Given the description of an element on the screen output the (x, y) to click on. 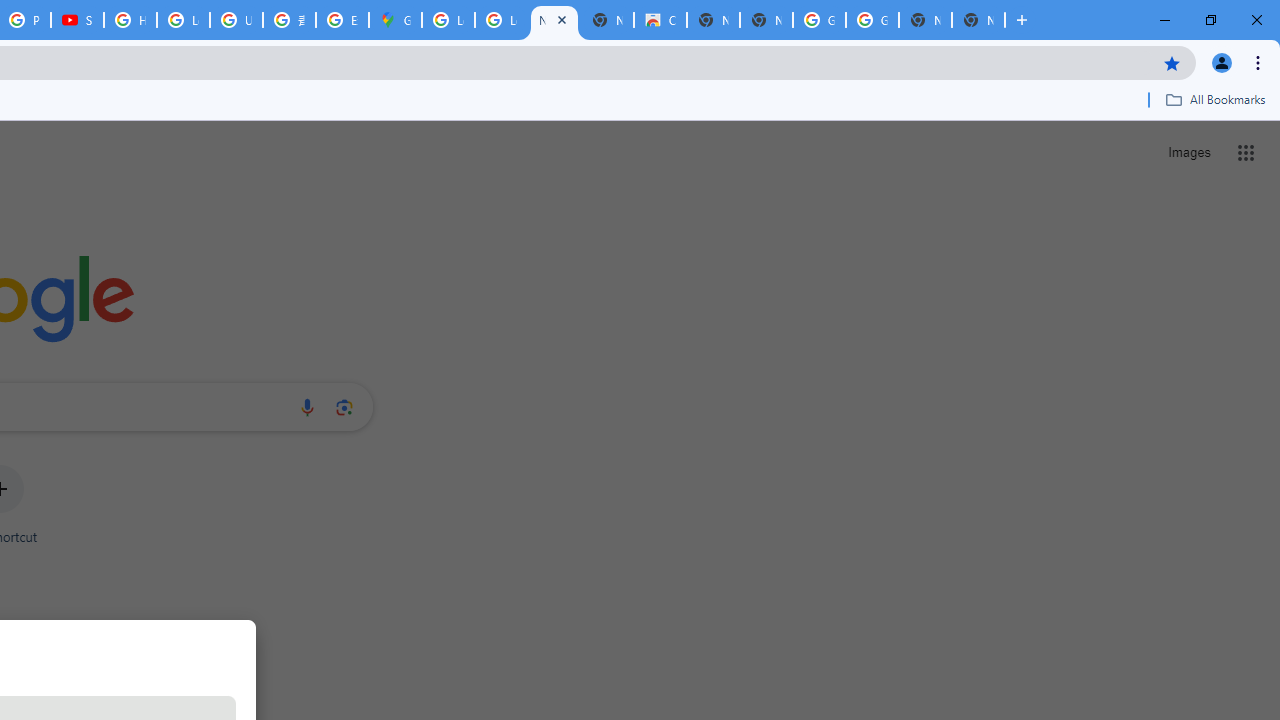
New Tab (978, 20)
Explore new street-level details - Google Maps Help (342, 20)
Chrome Web Store (660, 20)
Subscriptions - YouTube (77, 20)
Google Images (819, 20)
Google Images (872, 20)
